Given the description of an element on the screen output the (x, y) to click on. 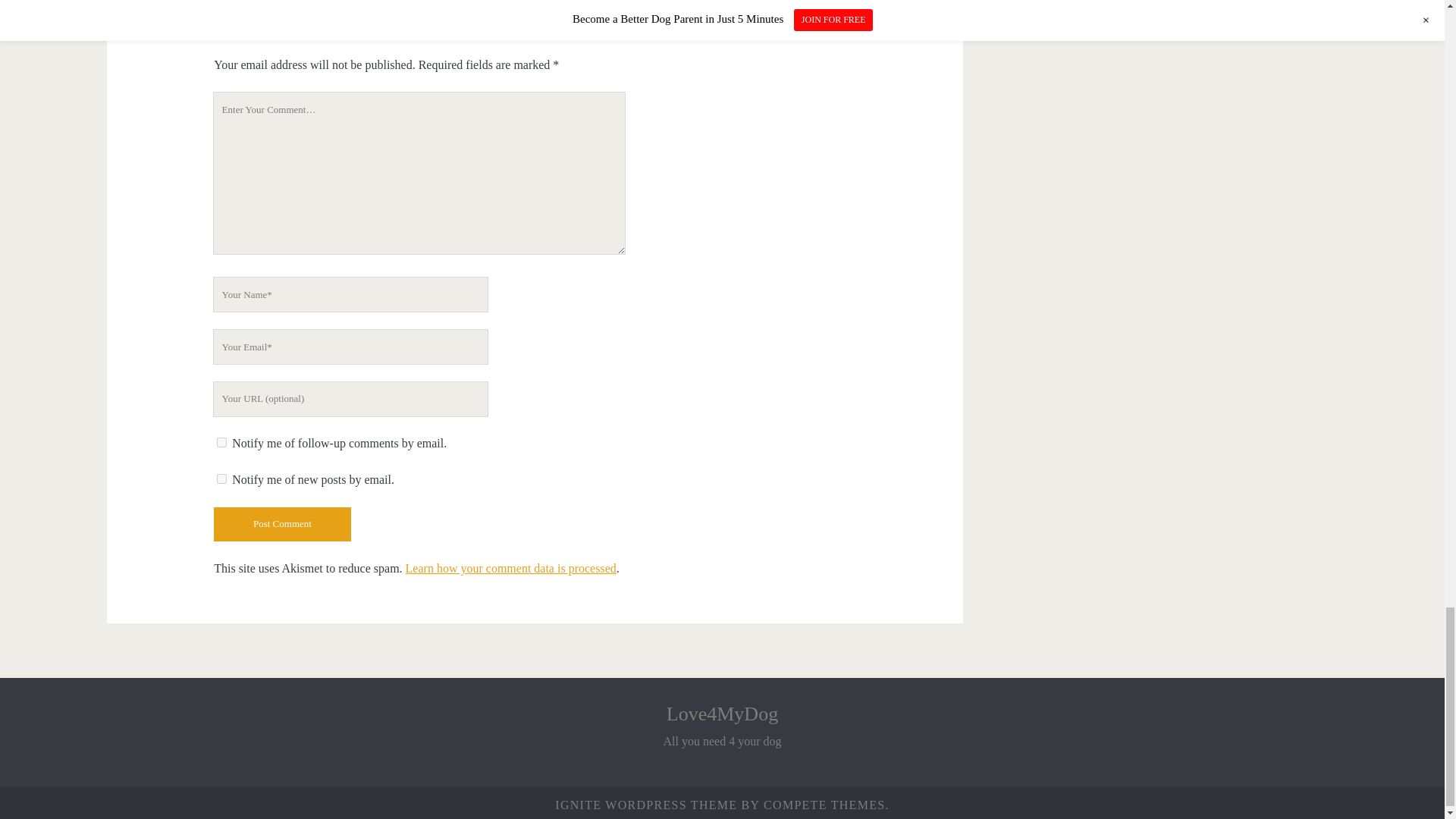
Learn how your comment data is processed (510, 567)
Love4MyDog (721, 713)
Post Comment (282, 523)
subscribe (221, 442)
Post Comment (282, 523)
subscribe (221, 479)
IGNITE WORDPRESS THEME (645, 804)
